Given the description of an element on the screen output the (x, y) to click on. 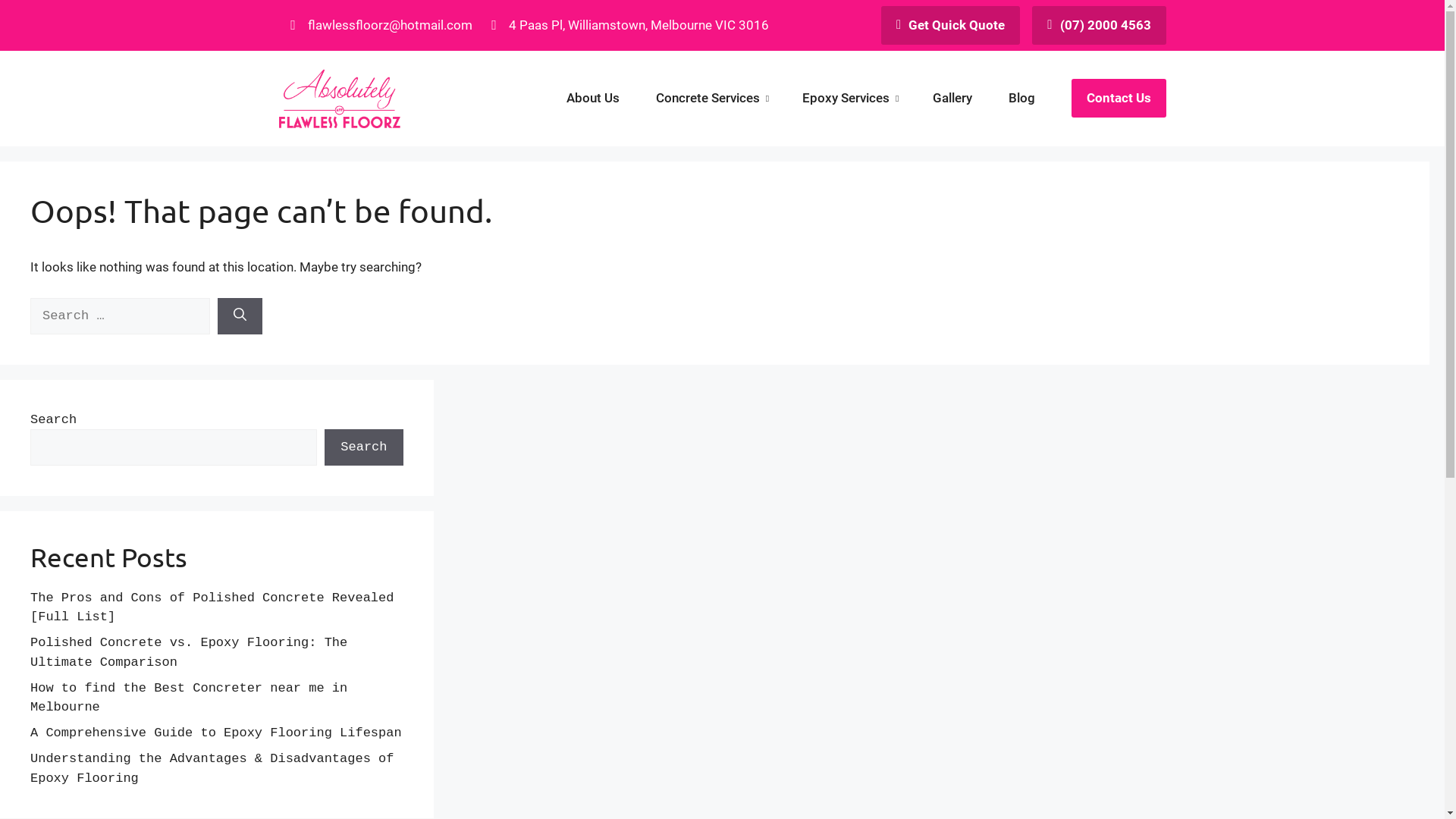
Blog Element type: text (1021, 98)
(07) 2000 4563 Element type: text (1098, 25)
Gallery Element type: text (952, 98)
Contact Us Element type: text (1117, 97)
Search Element type: text (363, 447)
A Comprehensive Guide to Epoxy Flooring Lifespan Element type: text (215, 732)
Get Quick Quote Element type: text (950, 25)
The Pros and Cons of Polished Concrete Revealed [Full List] Element type: text (211, 607)
Concrete Services Element type: text (710, 98)
Search for: Element type: hover (120, 316)
How to find the Best Concreter near me in Melbourne Element type: text (188, 697)
About Us Element type: text (592, 98)
Home Element type: hover (339, 98)
Epoxy Services Element type: text (848, 98)
flawlessfloorz@hotmail.com Element type: text (379, 25)
